Given the description of an element on the screen output the (x, y) to click on. 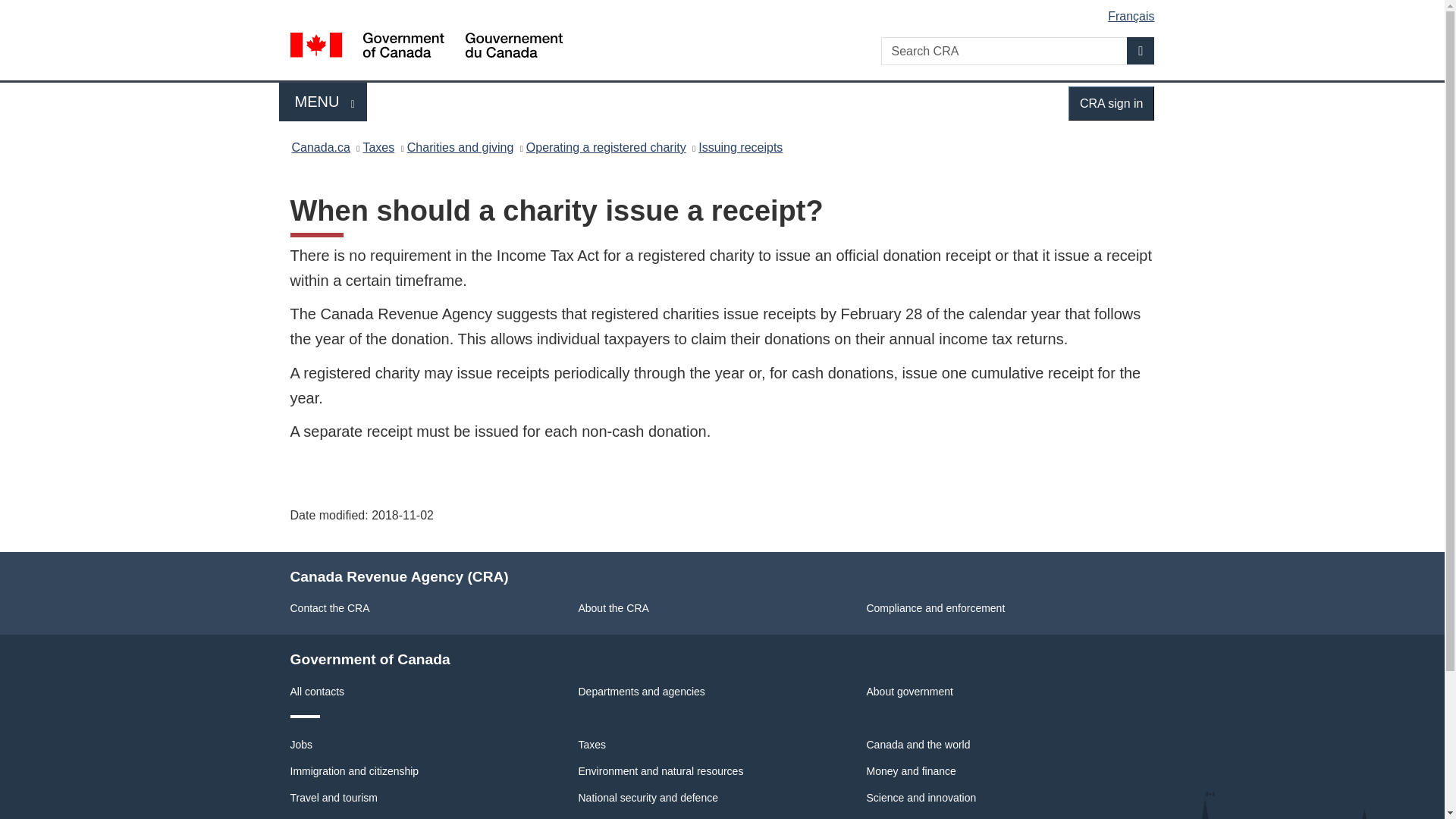
Canada.ca (320, 147)
Compliance and enforcement (935, 607)
Taxes (591, 744)
About the CRA (612, 607)
CRA sign in (1111, 103)
Travel and tourism (333, 797)
Business (311, 818)
Charities and giving (460, 147)
Departments and agencies (641, 691)
Issuing receipts (740, 147)
